Given the description of an element on the screen output the (x, y) to click on. 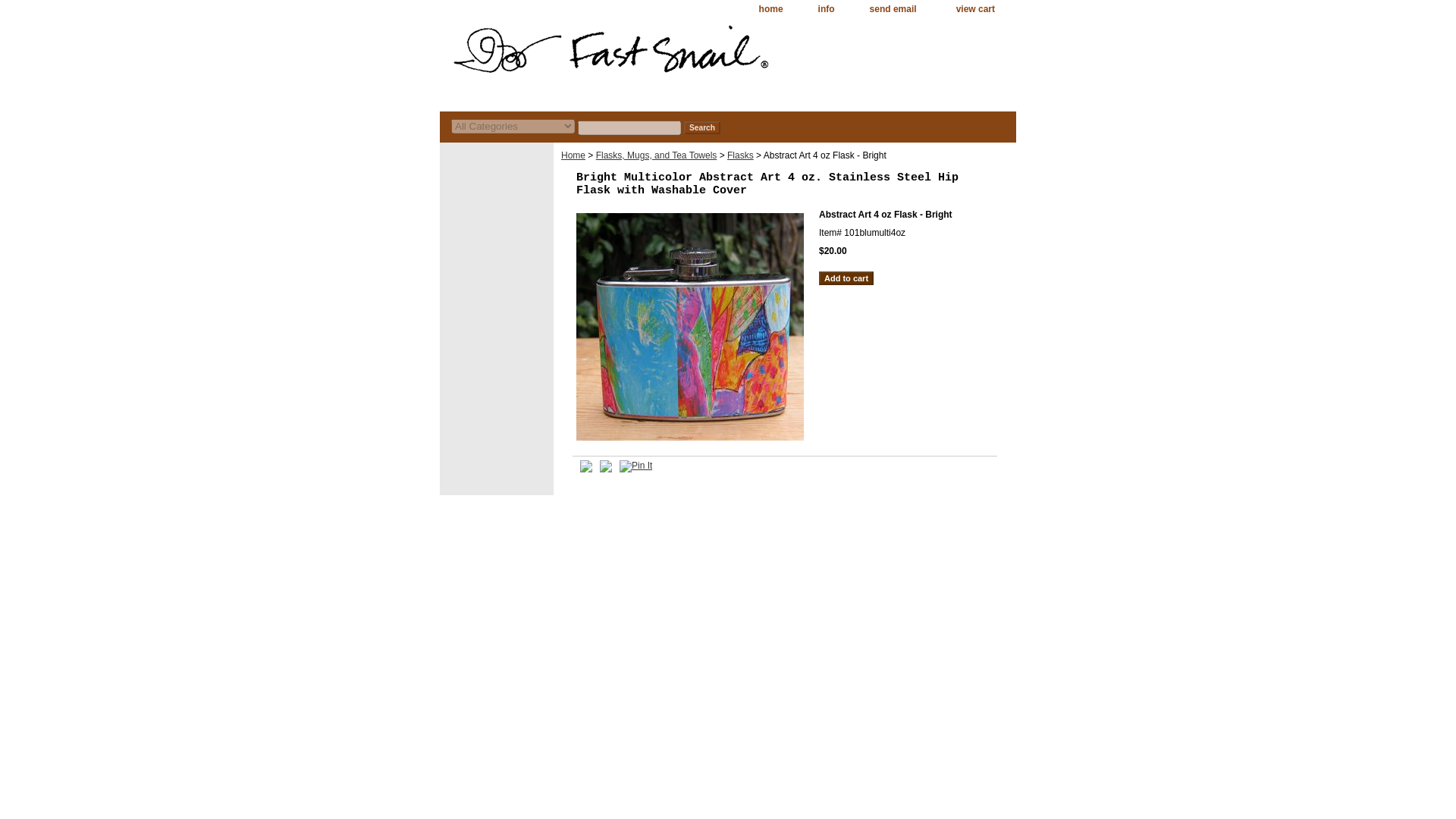
home (770, 9)
Add to cart (845, 278)
Tweet (585, 469)
Search (702, 127)
Add to cart (845, 278)
Flasks, Mugs, and Tea Towels (656, 154)
Add to cart (845, 278)
info (826, 9)
Pin It (636, 466)
send email (892, 9)
Flasks (740, 154)
Search (702, 127)
view cart (975, 9)
Abstract Art 4 oz Flask - Bright (690, 326)
Home (572, 154)
